Given the description of an element on the screen output the (x, y) to click on. 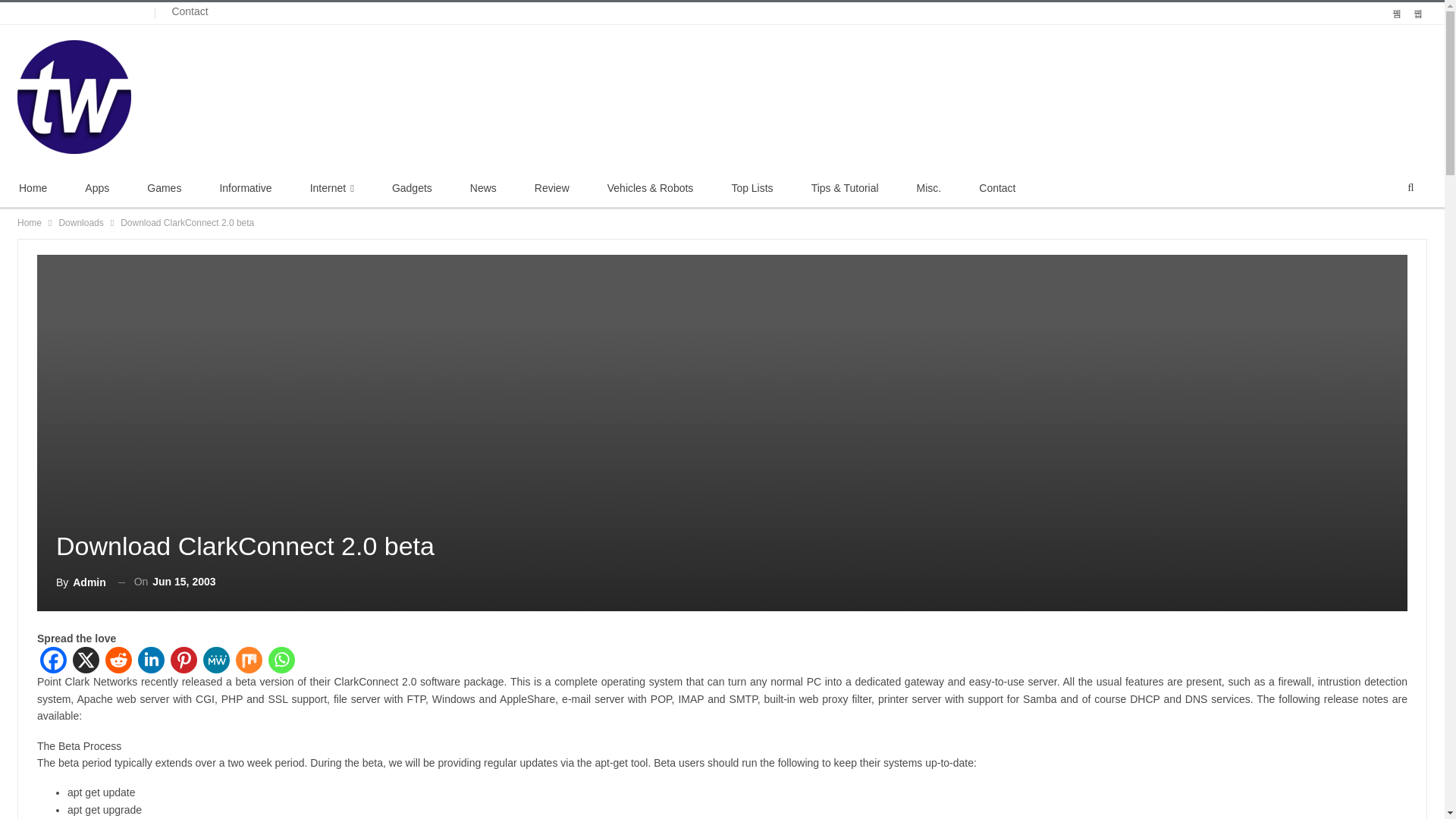
Whatsapp (281, 659)
Internet (331, 187)
Downloads (80, 222)
Mix (248, 659)
Misc. (929, 187)
Informative (244, 187)
Pinterest (183, 659)
Browse Author Articles (81, 581)
Top Lists (751, 187)
Contact (996, 187)
Home (32, 187)
Review (551, 187)
Home (29, 222)
Contact (189, 10)
By Admin (81, 581)
